Given the description of an element on the screen output the (x, y) to click on. 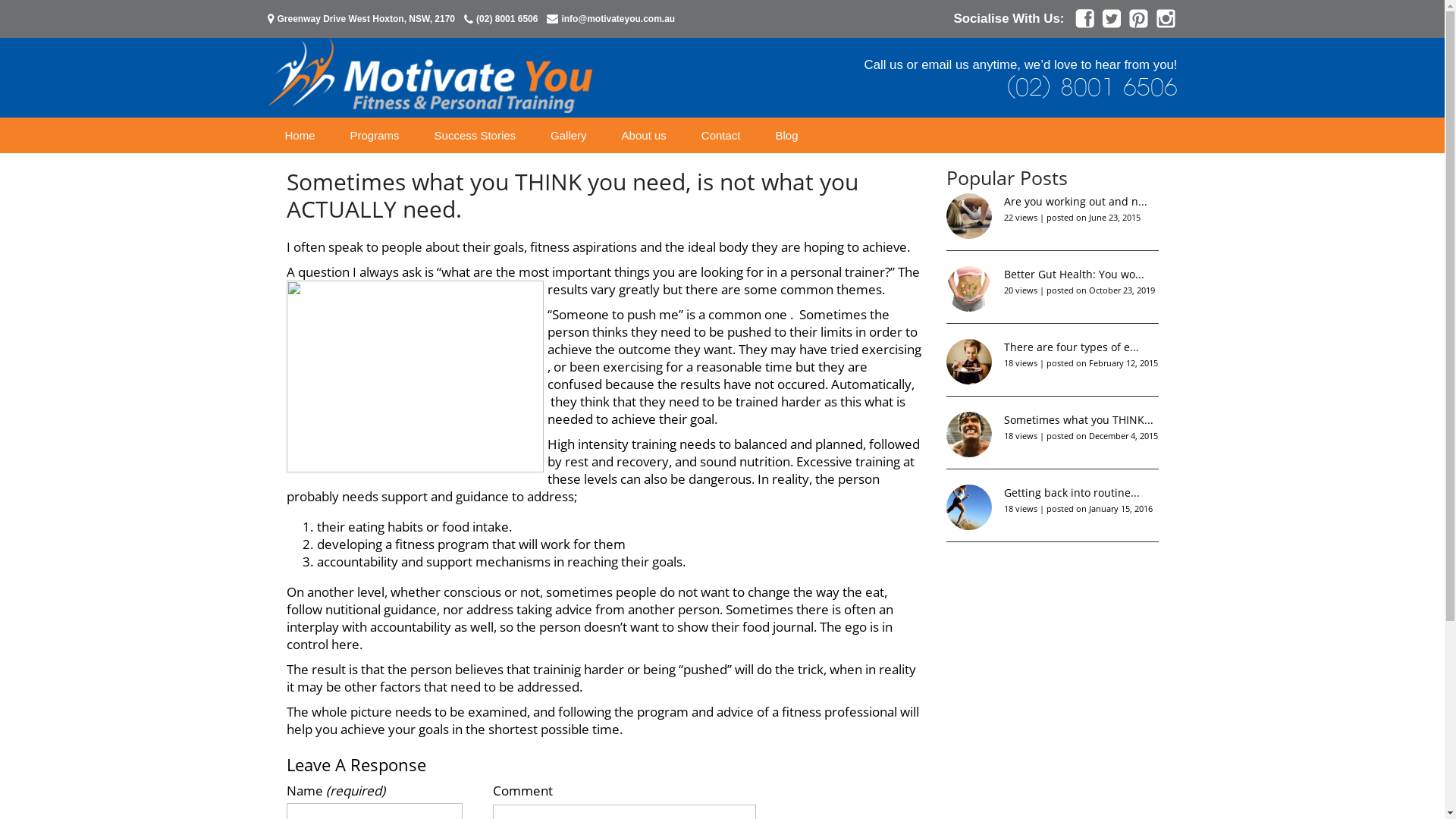
Better Gut Health: You wo... Element type: text (1074, 273)
Getting back into routine... Element type: text (1071, 492)
Pinterest Element type: hover (1138, 23)
Instagram Element type: hover (1164, 23)
Home Element type: text (299, 135)
Motivate You Fitness and Personal Training Element type: hover (428, 109)
There are four types of e... Element type: text (1071, 346)
Facebook Element type: hover (1084, 23)
About us Element type: text (644, 135)
Contact Element type: text (721, 135)
Success Stories Element type: text (475, 135)
Are you working out and n... Element type: text (1075, 201)
Gallery Element type: text (568, 135)
Twitter Element type: hover (1111, 23)
Sometimes what you THINK... Element type: text (1078, 419)
Blog Element type: text (786, 135)
Programs Element type: text (374, 135)
